Given the description of an element on the screen output the (x, y) to click on. 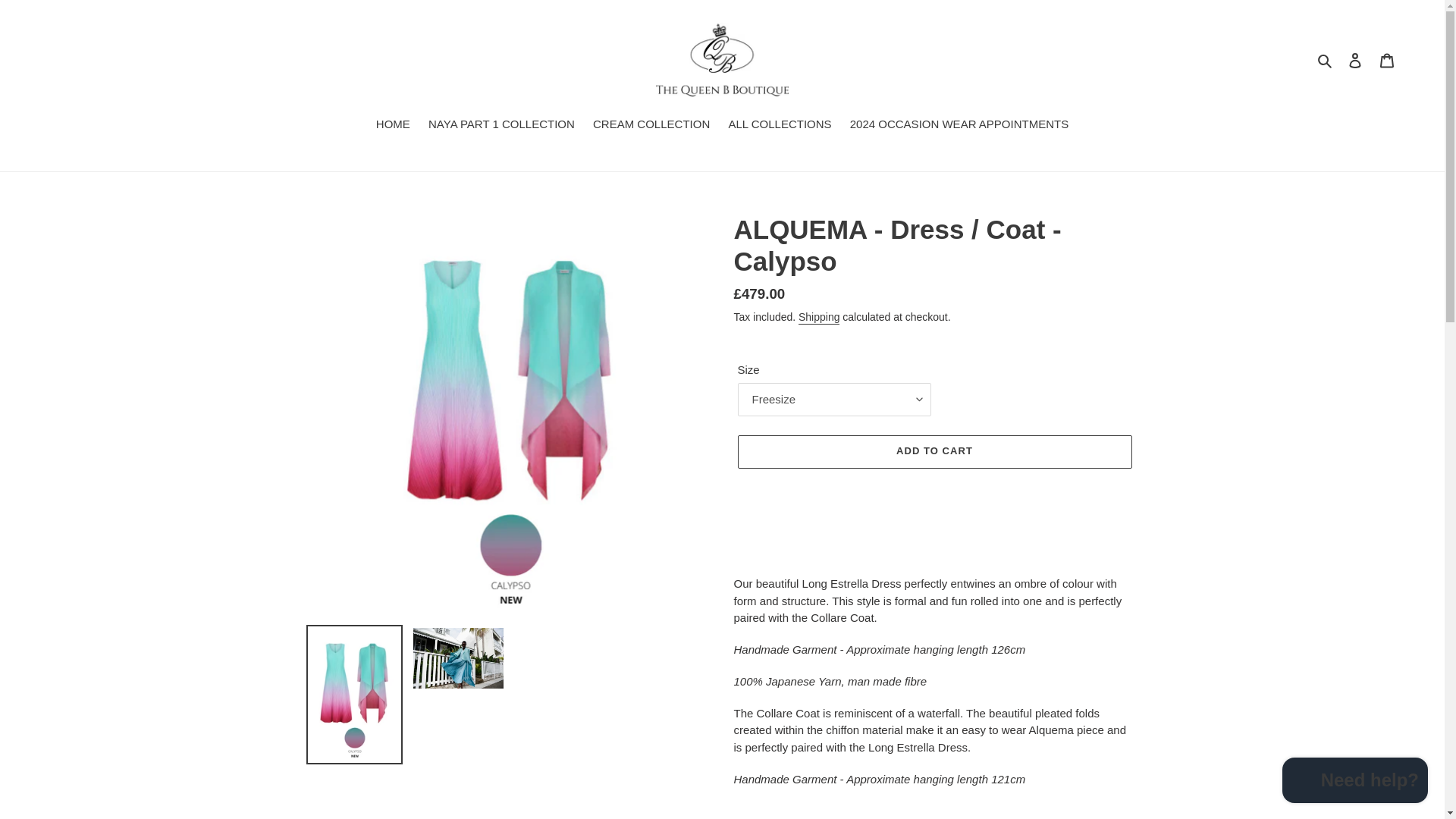
Cart (1387, 60)
HOME (392, 125)
Shipping (818, 317)
ADD TO CART (933, 451)
ALL COLLECTIONS (779, 125)
Log in (1355, 60)
CREAM COLLECTION (651, 125)
Search (1326, 59)
2024 OCCASION WEAR APPOINTMENTS (959, 125)
NAYA PART 1 COLLECTION (501, 125)
